Given the description of an element on the screen output the (x, y) to click on. 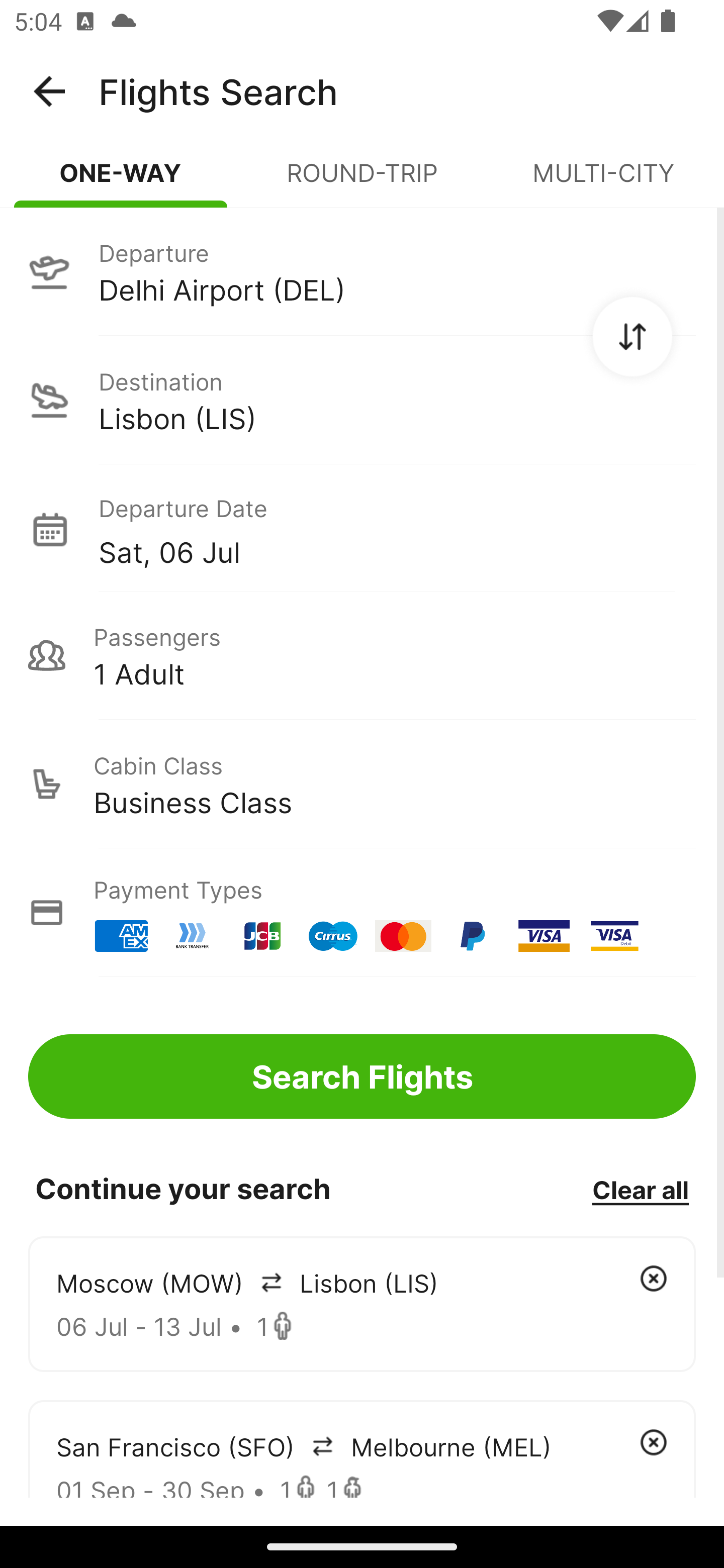
ONE-WAY (120, 180)
ROUND-TRIP (361, 180)
MULTI-CITY (603, 180)
Departure Delhi Airport (DEL) (362, 270)
Destination Lisbon (LIS) (362, 400)
Departure Date Sat, 06 Jul (396, 528)
Passengers 1 Adult (362, 655)
Cabin Class Business Class (362, 783)
Payment Types (362, 912)
Search Flights (361, 1075)
Clear all (640, 1189)
